Given the description of an element on the screen output the (x, y) to click on. 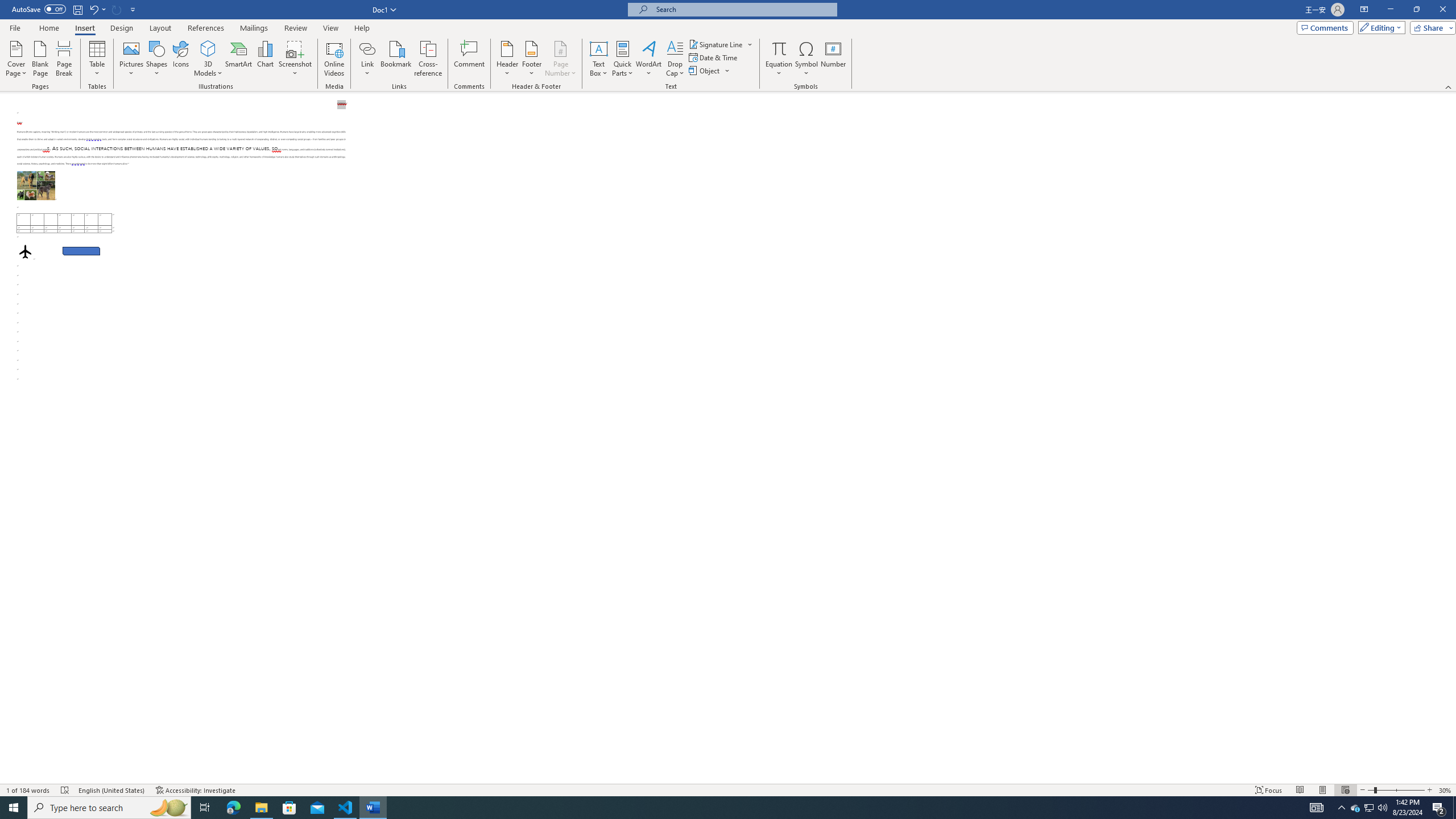
Date & Time... (714, 56)
SmartArt... (238, 58)
Text Box (598, 58)
Icons (180, 58)
Undo Apply Quick Style Set (96, 9)
Undo Apply Quick Style Set (92, 9)
Number... (833, 58)
Link (367, 58)
Signature Line (716, 44)
